Given the description of an element on the screen output the (x, y) to click on. 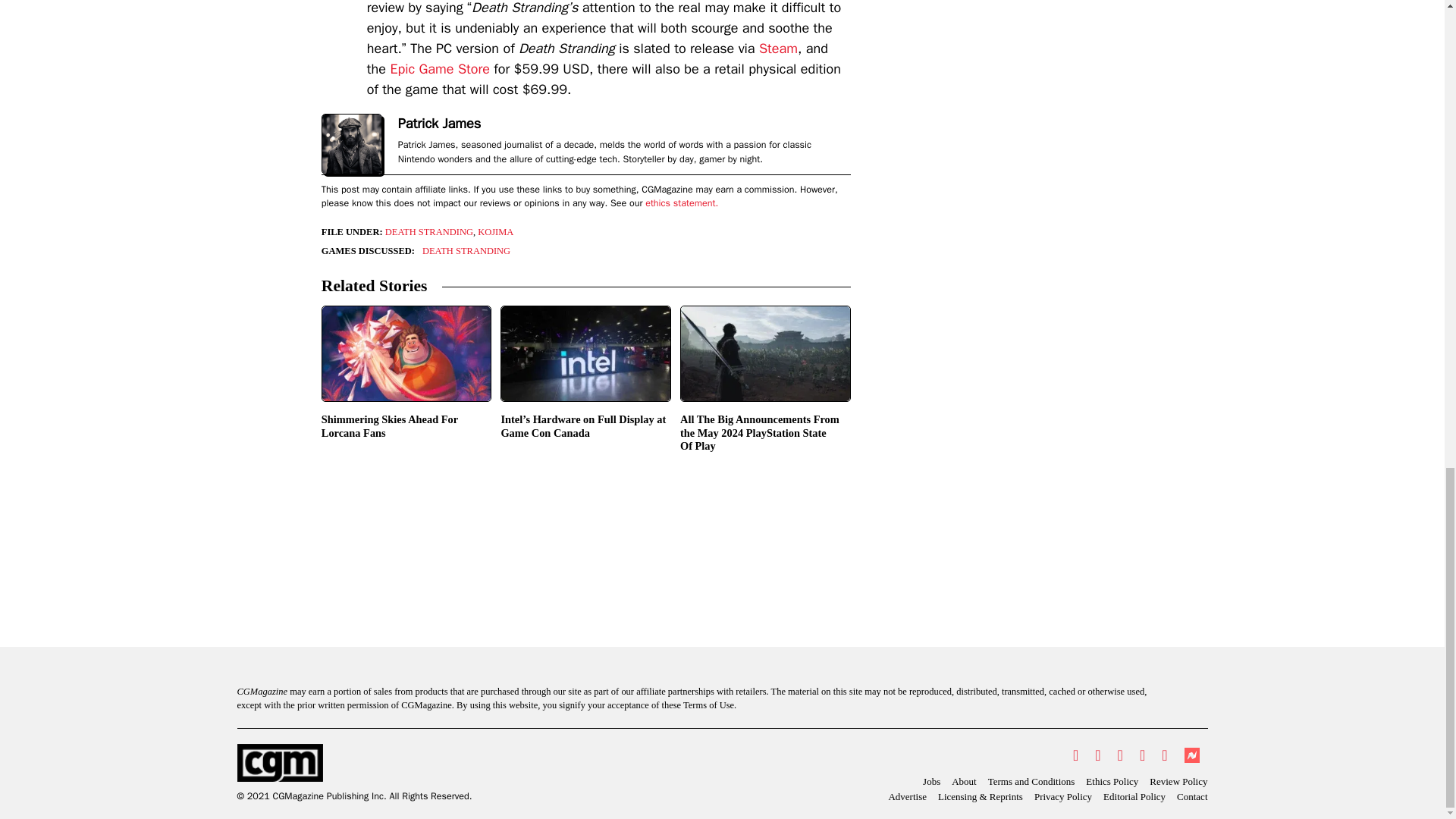
Patrick James (438, 123)
Death Stranding (466, 251)
YouTube Page (1142, 754)
Instagram Profile (1120, 754)
Twitter Profile (1075, 754)
CGMagazine (353, 762)
NewsBreak (1190, 754)
Flipboard Page (1163, 754)
Facebook Page (1097, 754)
